Given the description of an element on the screen output the (x, y) to click on. 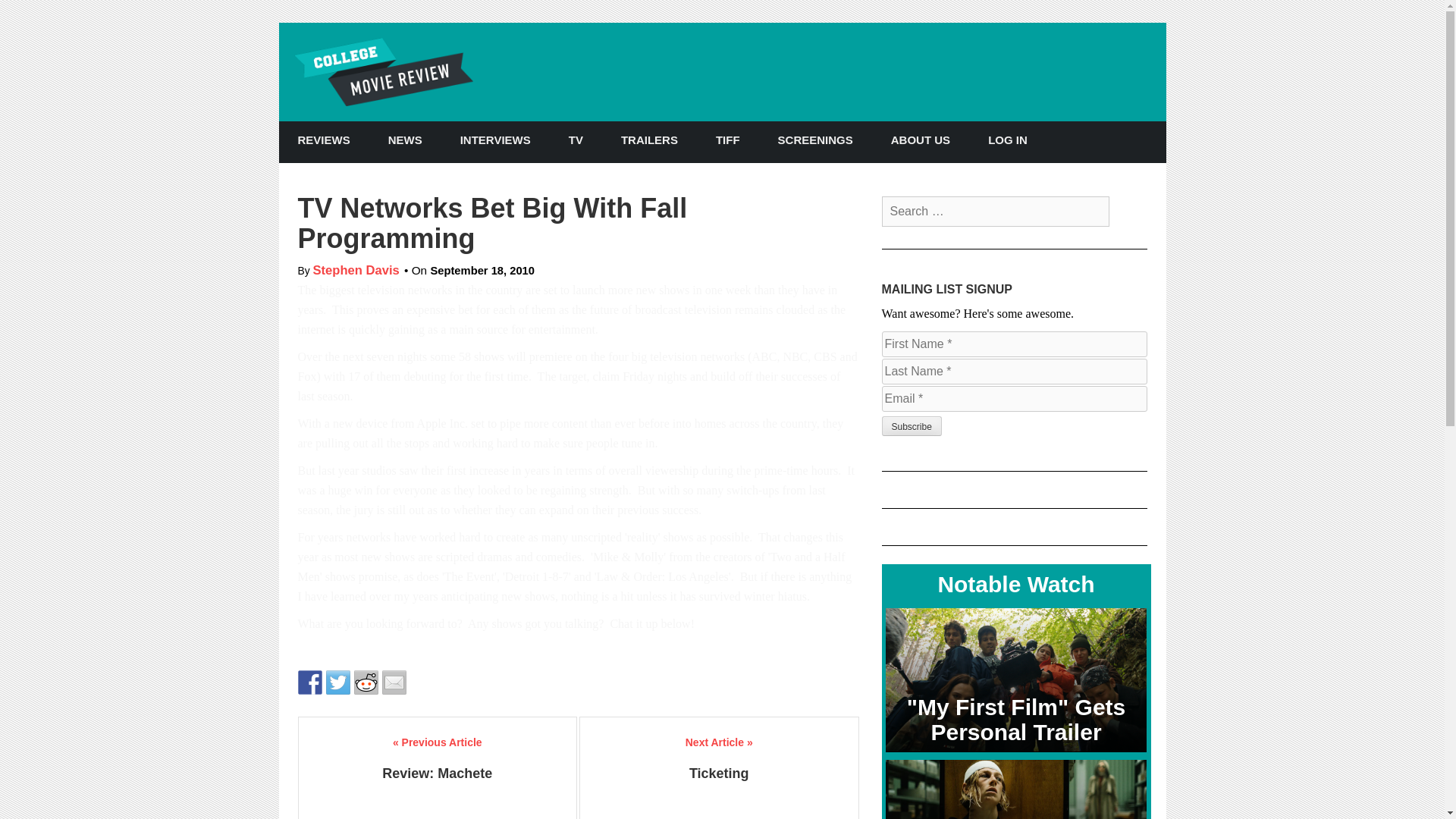
ABOUT US (920, 139)
Share on Reddit (365, 682)
"Cuckoo" Trailer Lives Up to Its Title (1016, 789)
TWITTER (1109, 141)
LOG IN (1007, 139)
REVIEWS (324, 139)
Search (24, 9)
Subscribe (910, 425)
Share by email (393, 682)
SCREENINGS (815, 139)
